Given the description of an element on the screen output the (x, y) to click on. 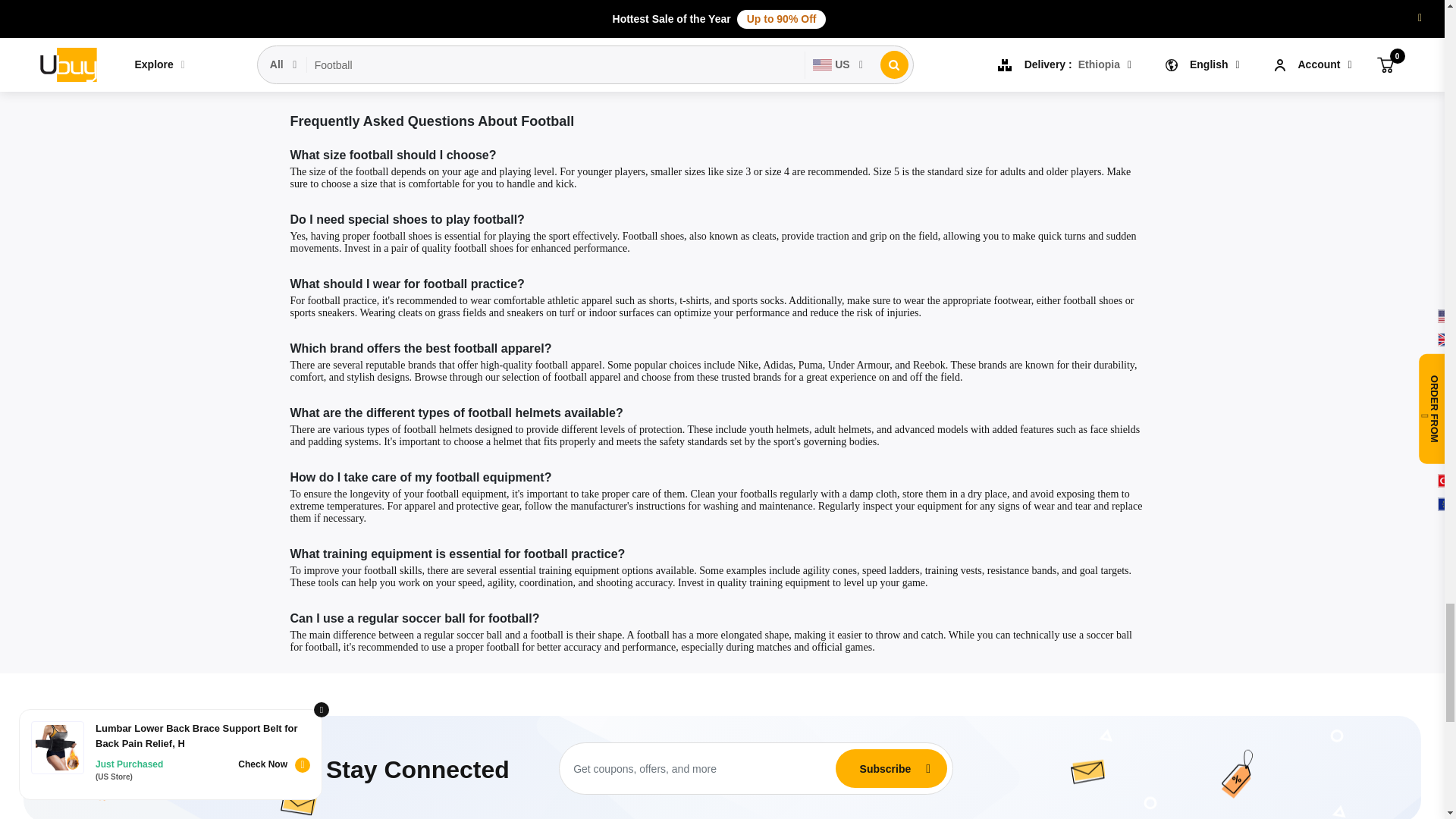
Subscribe (885, 768)
